Given the description of an element on the screen output the (x, y) to click on. 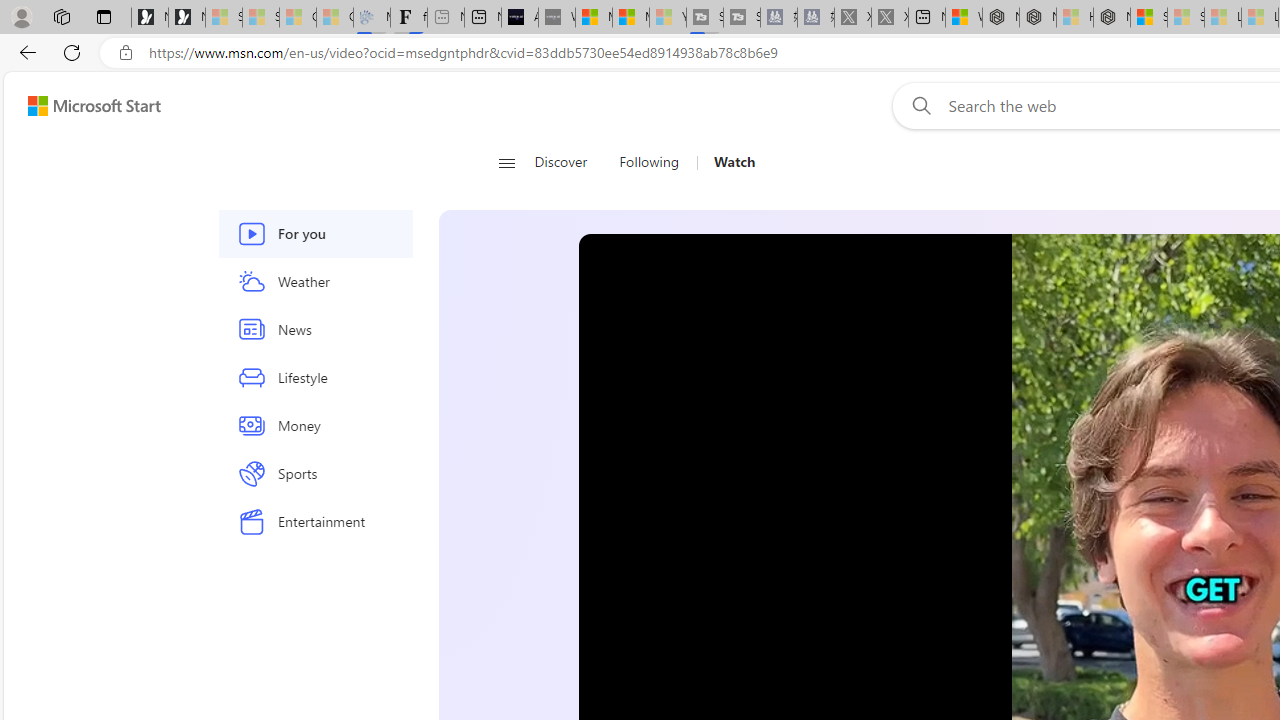
Microsoft Start (94, 105)
Nordace - Nordace Siena Is Not An Ordinary Backpack (1112, 17)
Workspaces (61, 16)
Open navigation menu (506, 162)
New tab (926, 17)
Class: button-glyph (505, 162)
New tab - Sleeping (445, 17)
Following (649, 162)
Personal Profile (21, 16)
